Given the description of an element on the screen output the (x, y) to click on. 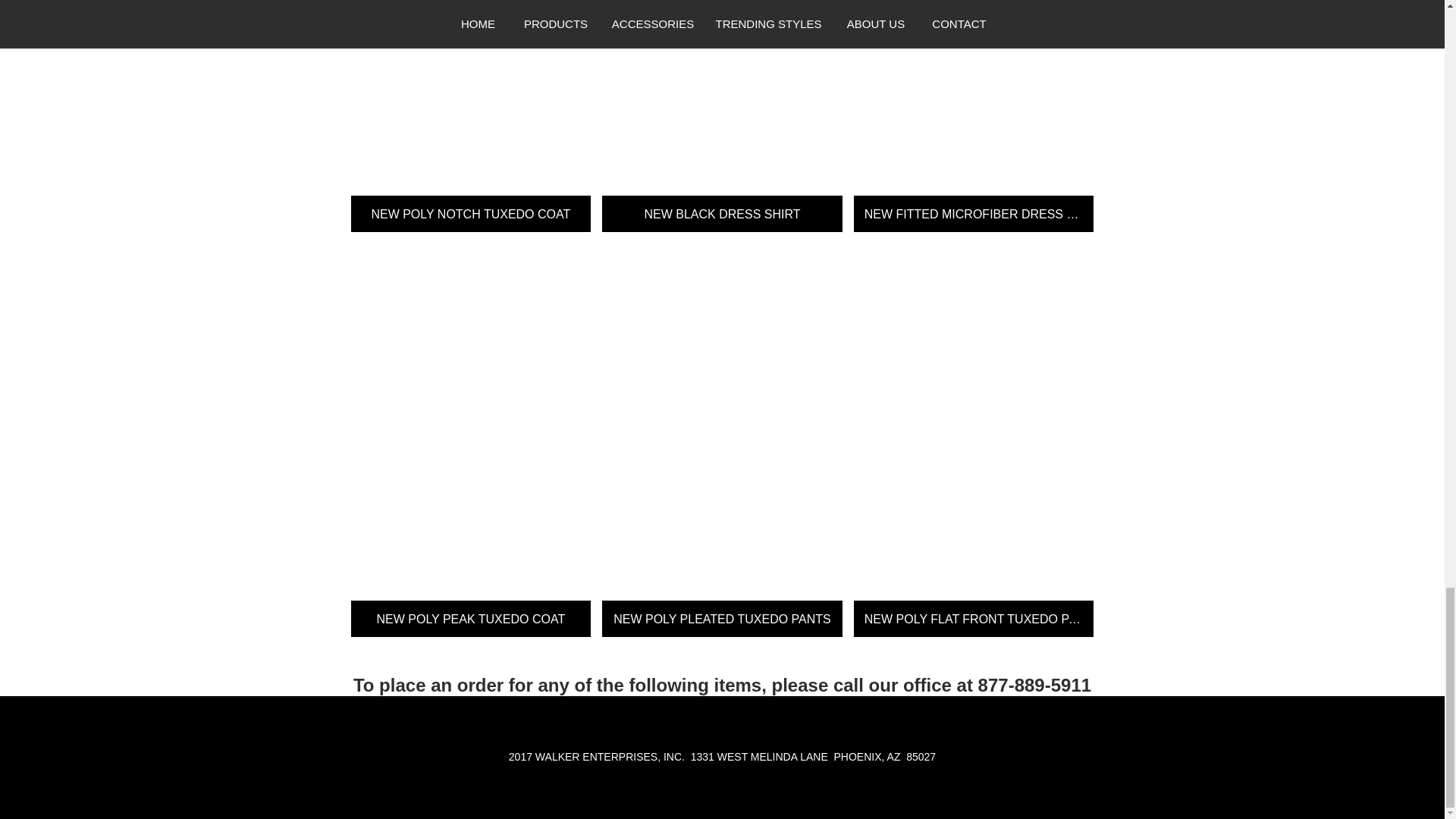
NEW BLACK DRESS SHIRT (722, 115)
NEW POLY NOTCH TUXEDO COAT (470, 115)
NEW FITTED MICROFIBER DRESS SHIRT IN WHITE (973, 115)
NEW POLY FLAT FRONT TUXEDO PANTS (973, 440)
NEW POLY PLEATED TUXEDO PANTS (722, 440)
NEW POLY PEAK TUXEDO COAT (470, 440)
